Given the description of an element on the screen output the (x, y) to click on. 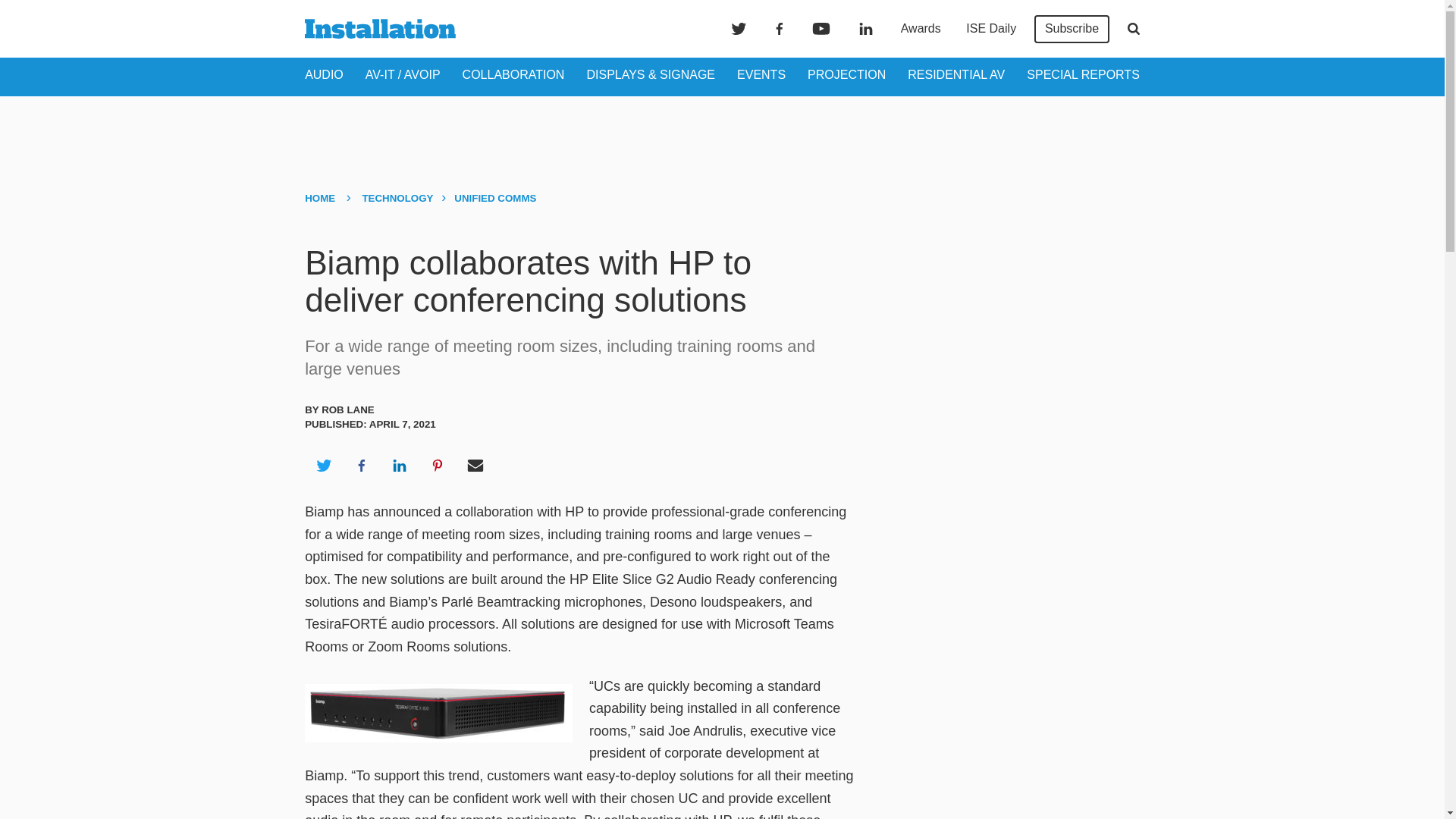
AUDIO (323, 74)
Share via Email (476, 465)
ISE Daily (990, 29)
Share on LinkedIn (399, 465)
Share on Twitter (323, 465)
COLLABORATION (513, 74)
Share on Pinterest (438, 465)
Awards (921, 29)
Subscribe (1071, 29)
Share on Facebook (361, 465)
Rob Lane's Author Profile (347, 409)
